Given the description of an element on the screen output the (x, y) to click on. 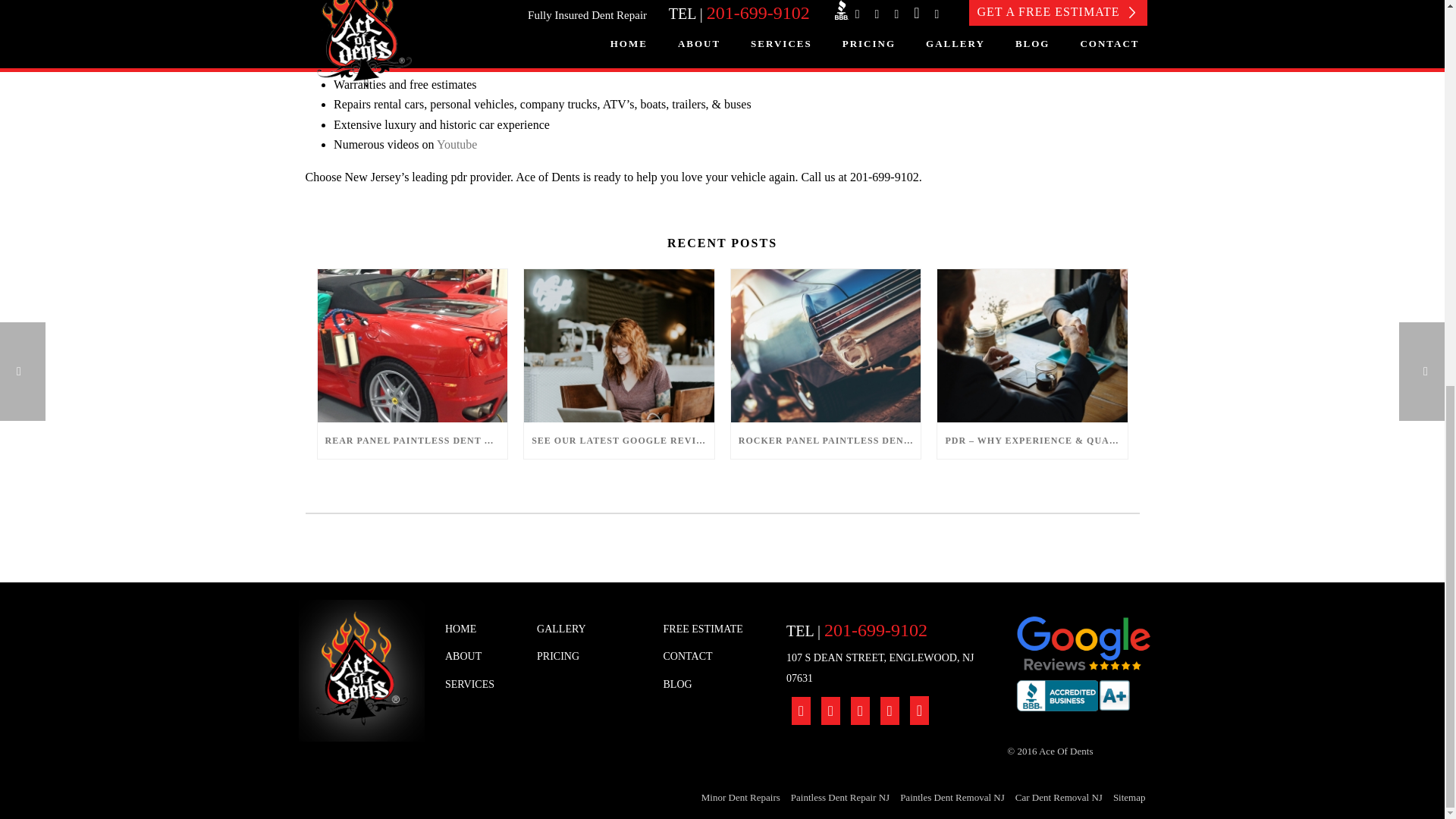
ABOUT (479, 656)
Rocker Panel Paintless Dent Repair (825, 345)
SEE OUR LATEST GOOGLE REVIEWS FOR PDR (619, 440)
Rear Panel Paintless Dent Repair (411, 345)
ROCKER PANEL PAINTLESS DENT REPAIR (825, 440)
Youtube (456, 144)
HOME (479, 629)
Twitter (551, 43)
See Our Latest Google Reviews for PDR (619, 345)
REAR PANEL PAINTLESS DENT REPAIR (411, 440)
